Given the description of an element on the screen output the (x, y) to click on. 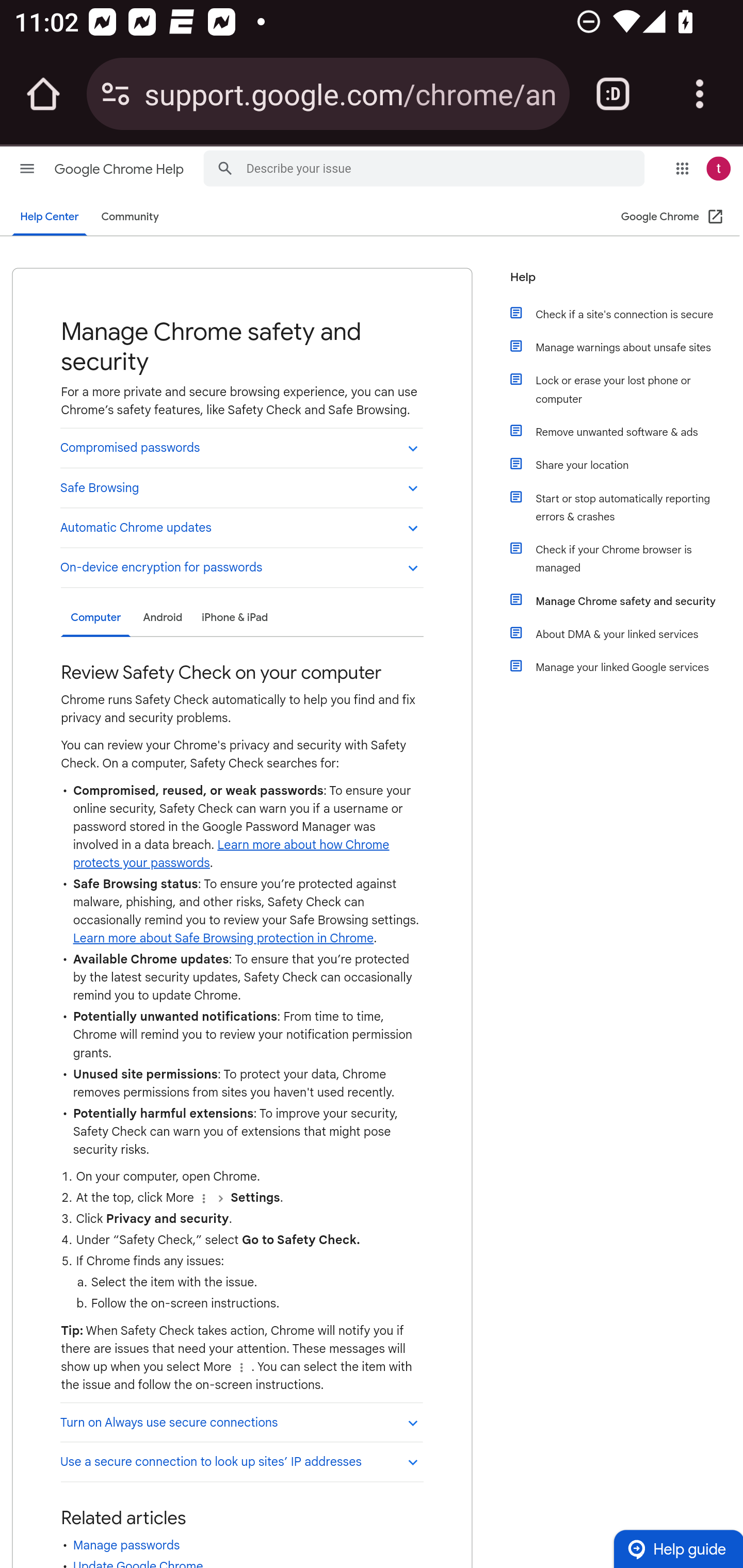
Open the home page (43, 93)
Connection is secure (115, 93)
Switch or close tabs (612, 93)
Customize and control Google Chrome (699, 93)
Main menu (27, 168)
Google Chrome Help (120, 169)
Search Help Center (224, 167)
Google apps (681, 168)
Help Center (48, 217)
Community (129, 217)
Google Chrome (Open in a new window) Google Chrome (672, 217)
Help Help Help (618, 282)
Check if a site's connection is secure (626, 314)
Manage warnings about unsafe sites (626, 347)
Lock or erase your lost phone or computer (626, 390)
Remove unwanted software & ads (626, 432)
Compromised passwords (240, 446)
Share your location (626, 465)
Safe Browsing (240, 487)
Automatic Chrome updates (240, 526)
Check if your Chrome browser is managed (626, 558)
On-device encryption for passwords (240, 567)
Manage Chrome safety and security (626, 600)
Computer (95, 617)
Android (161, 616)
iPhone & iPad (234, 616)
About DMA & your linked services (626, 633)
Manage your linked Google services (626, 667)
Turn on Always use secure connections (240, 1421)
Related articles (123, 1518)
Help guide (677, 1548)
Manage passwords (125, 1545)
